Given the description of an element on the screen output the (x, y) to click on. 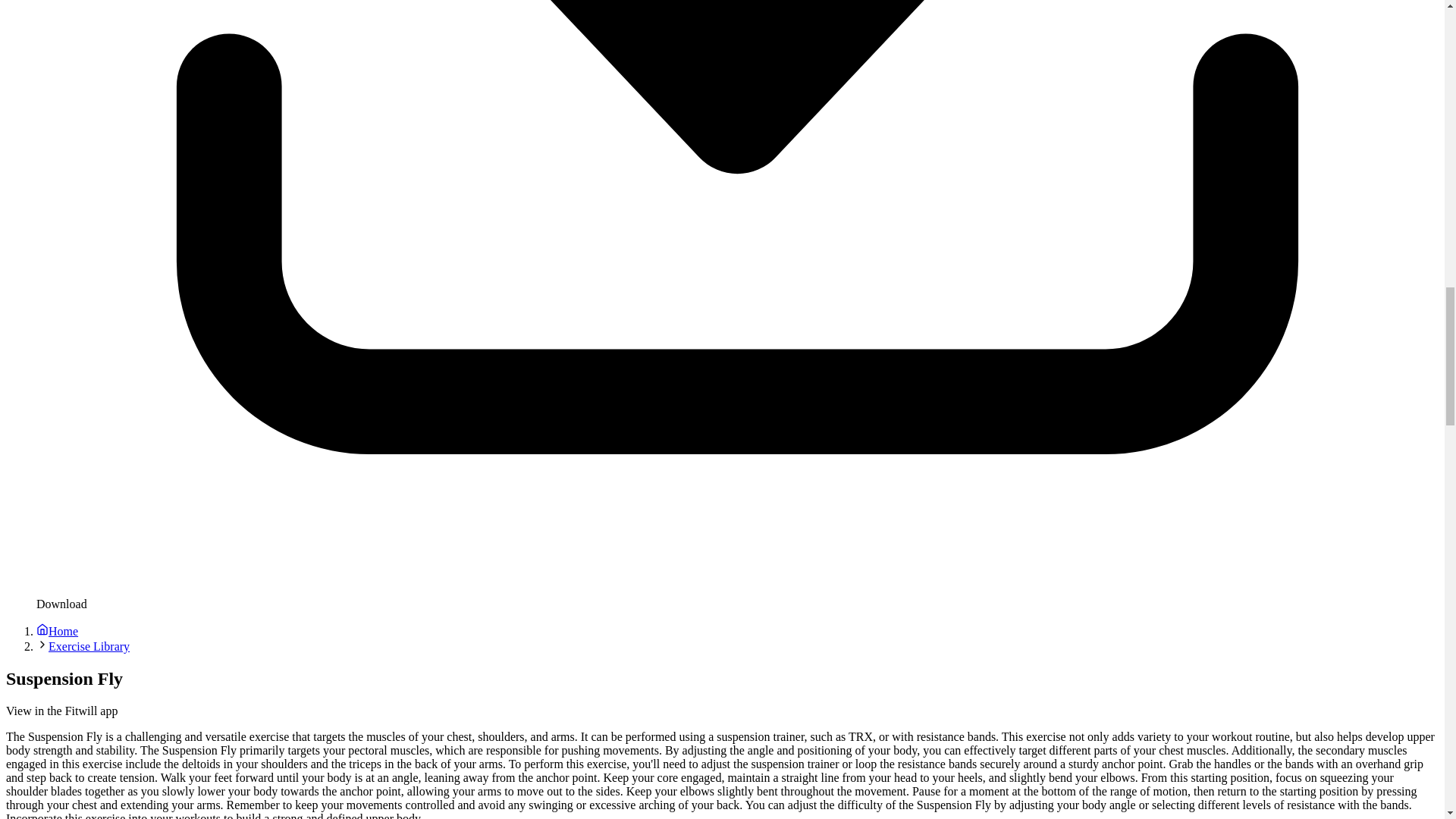
Exercise Library (88, 645)
Home (57, 631)
